Given the description of an element on the screen output the (x, y) to click on. 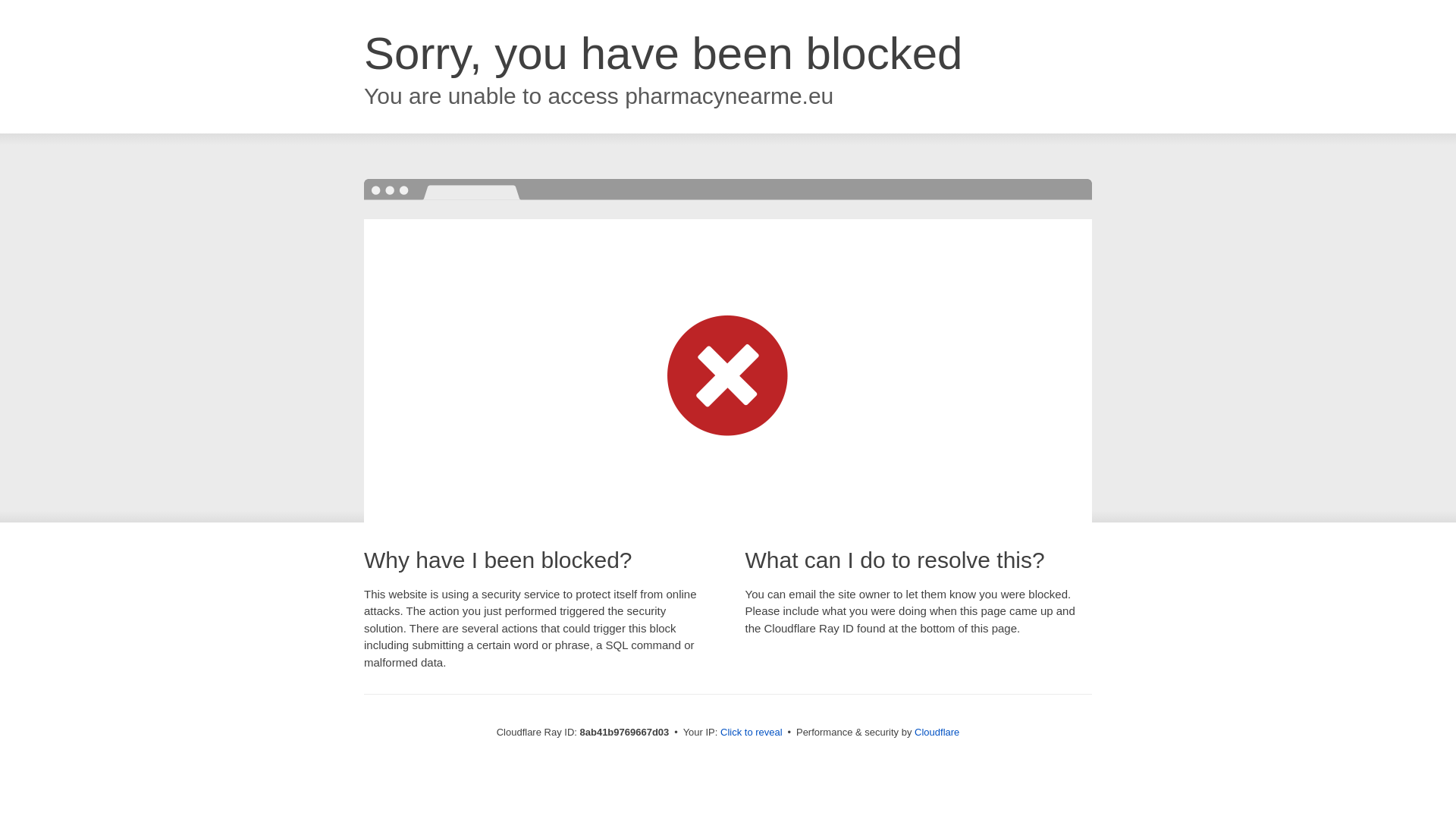
Cloudflare (936, 731)
Click to reveal (751, 732)
